Given the description of an element on the screen output the (x, y) to click on. 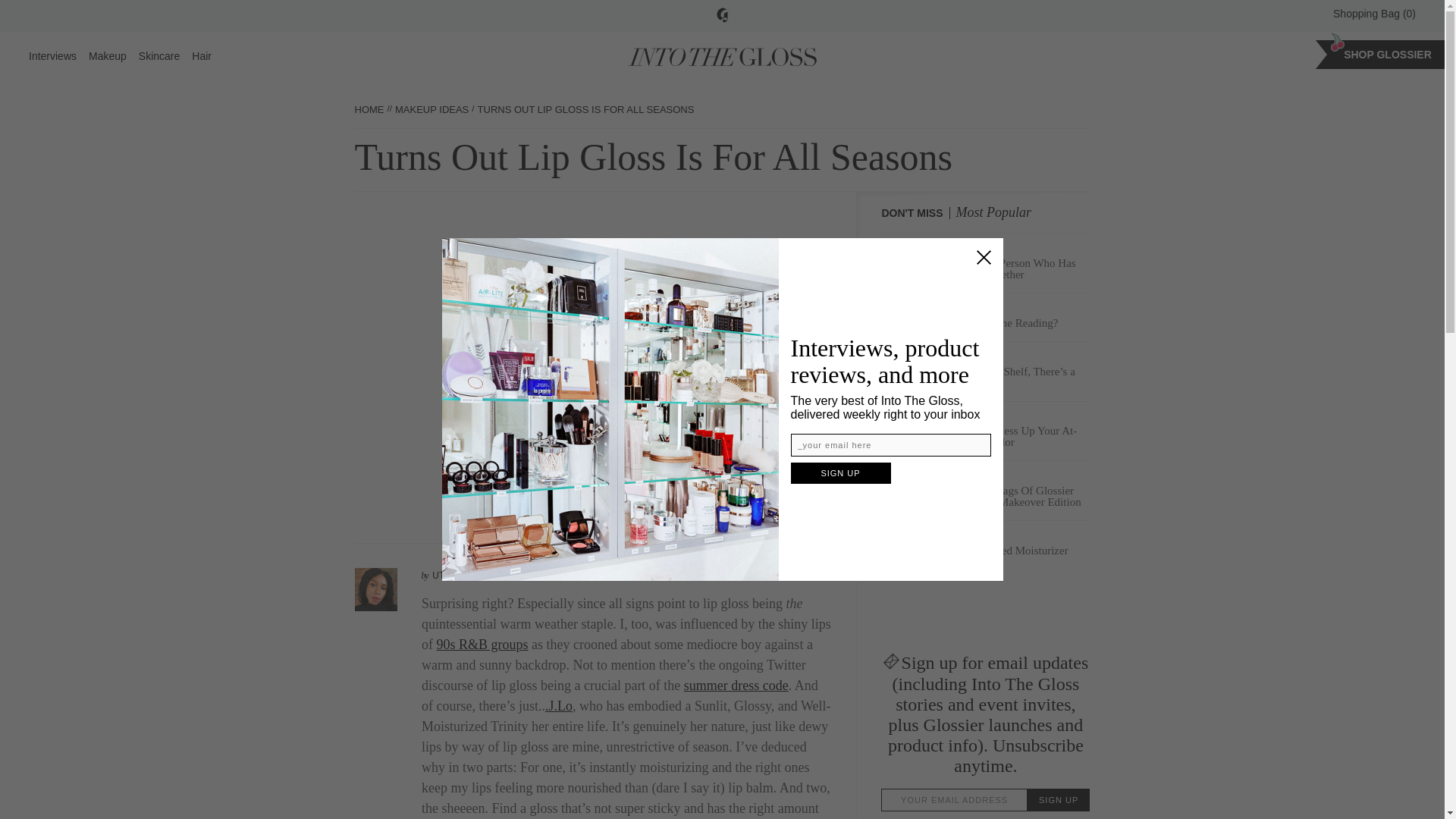
UTIBE MBAGWU (467, 575)
summer dress code (736, 685)
MAKEUP IDEAS (431, 109)
Hair (201, 55)
Into The Gloss (721, 56)
Makeup (107, 55)
Interviews (53, 55)
Skincare (158, 55)
.J.Lo (558, 705)
HOME (369, 109)
